Given the description of an element on the screen output the (x, y) to click on. 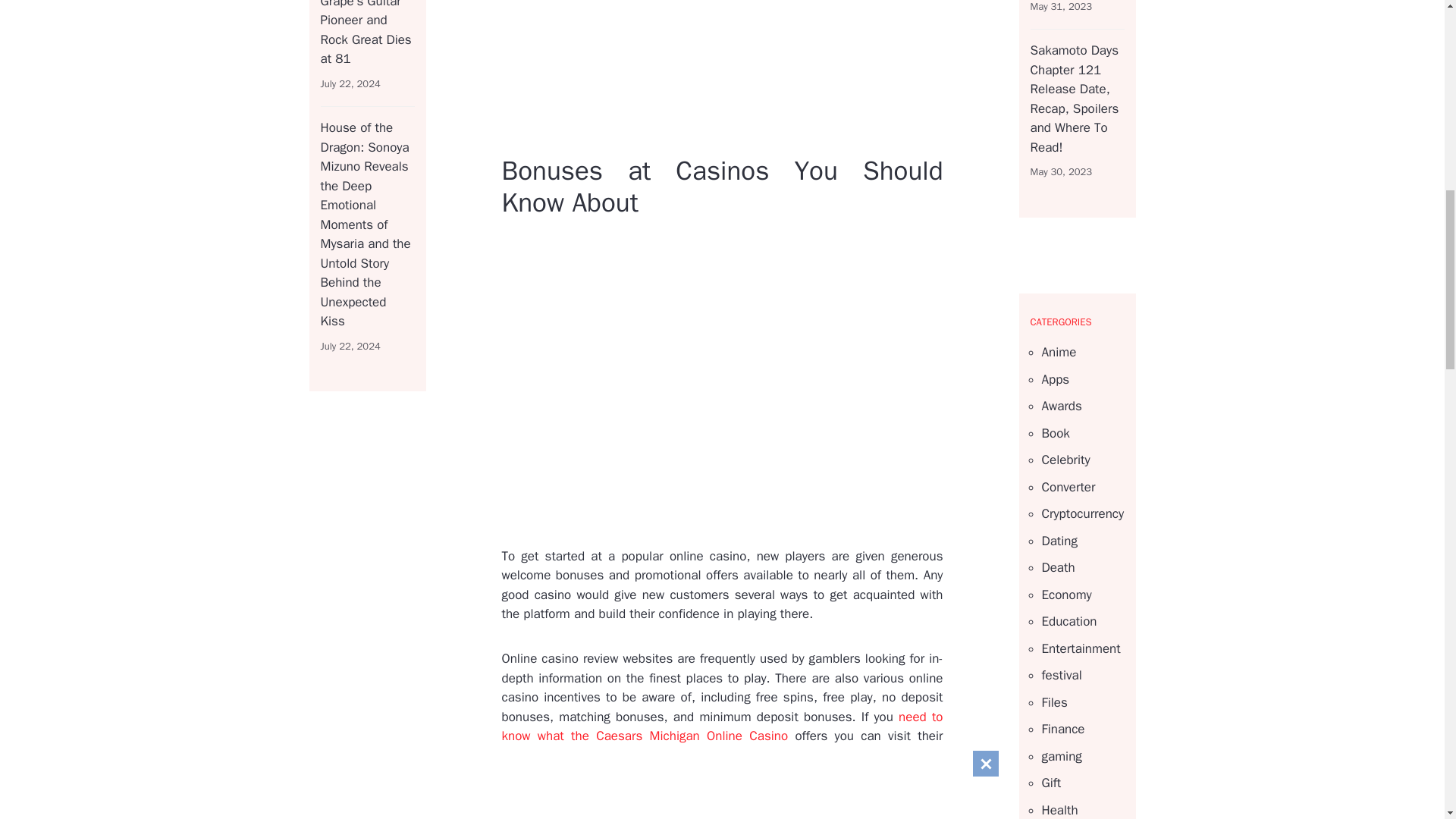
Advertisement (837, 74)
need to know what the Caesars Michigan Online Casino (722, 726)
